Given the description of an element on the screen output the (x, y) to click on. 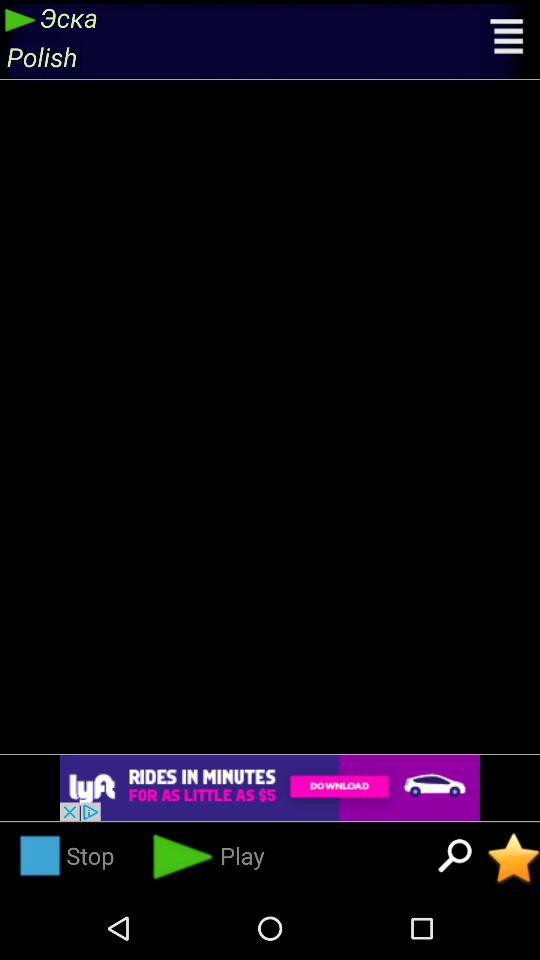
search (455, 858)
